Given the description of an element on the screen output the (x, y) to click on. 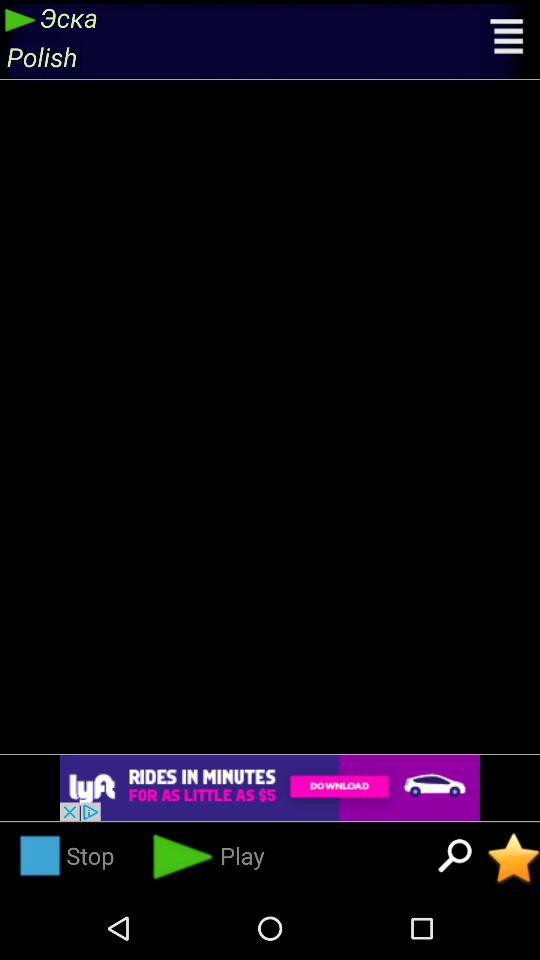
search (455, 858)
